Given the description of an element on the screen output the (x, y) to click on. 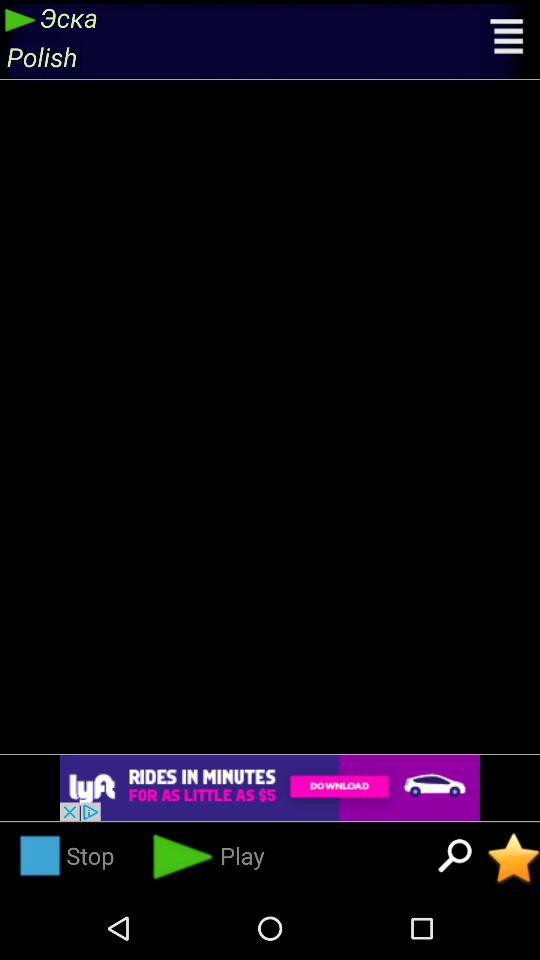
search (455, 858)
